Given the description of an element on the screen output the (x, y) to click on. 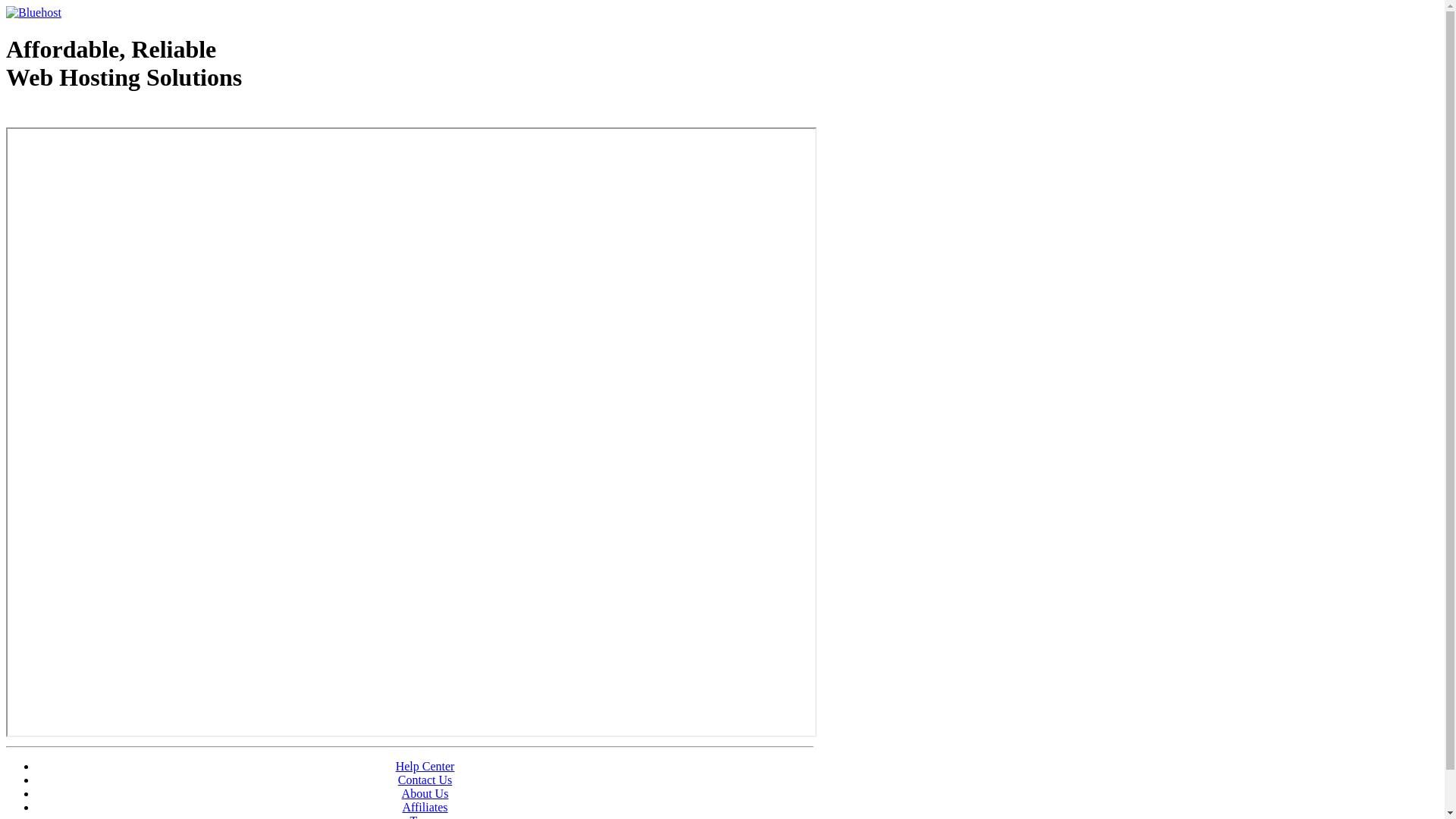
Web Hosting - courtesy of www.bluehost.com Element type: text (94, 115)
Help Center Element type: text (425, 765)
Contact Us Element type: text (425, 779)
Affiliates Element type: text (424, 806)
About Us Element type: text (424, 793)
